Given the description of an element on the screen output the (x, y) to click on. 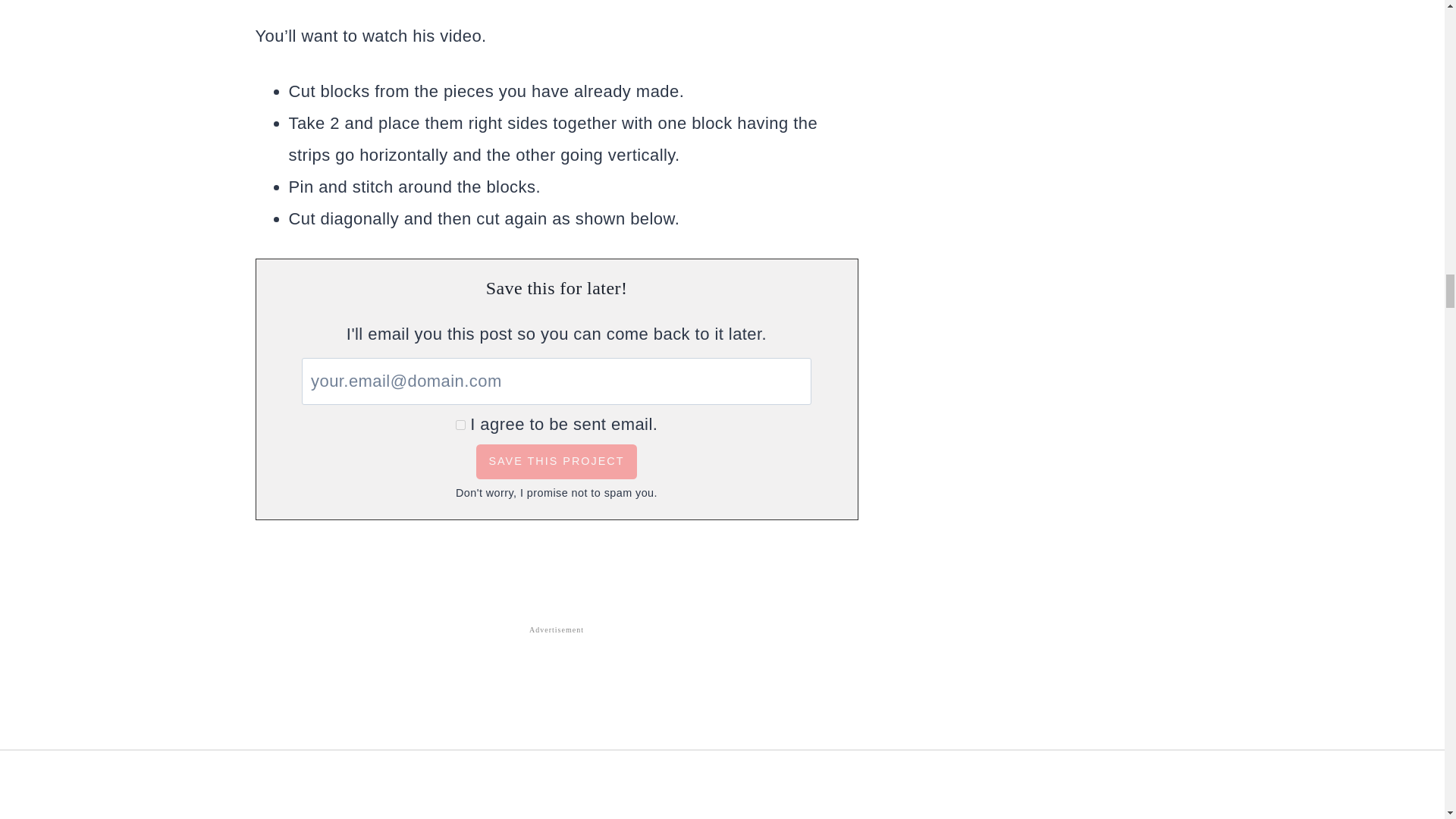
Save This Project (556, 461)
Save This Project (556, 461)
1 (460, 424)
